Given the description of an element on the screen output the (x, y) to click on. 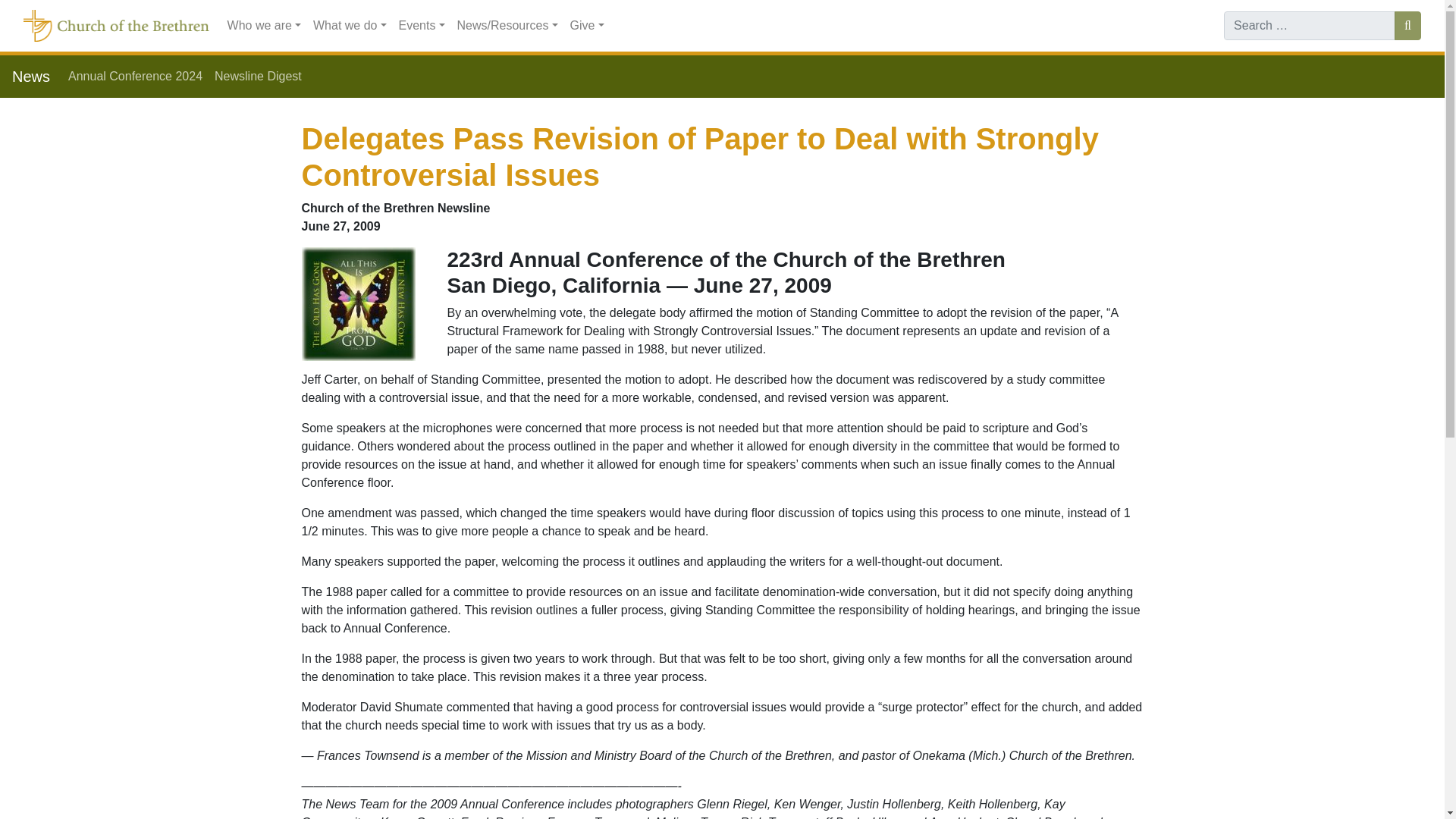
Events (422, 25)
What we do (350, 25)
Who we are (264, 25)
Who we are (264, 25)
What we do (350, 25)
